Given the description of an element on the screen output the (x, y) to click on. 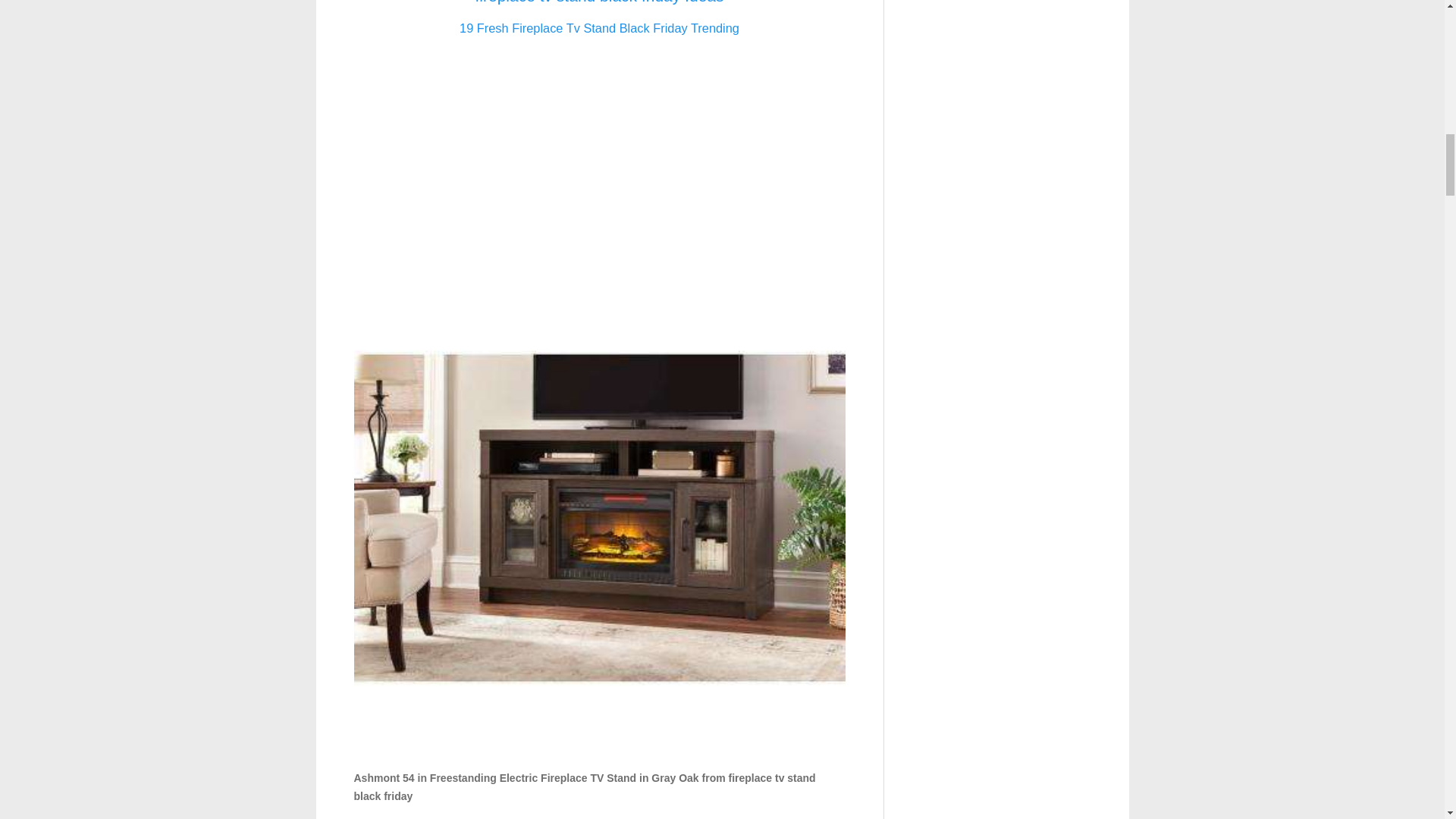
Advertisement (599, 155)
